Given the description of an element on the screen output the (x, y) to click on. 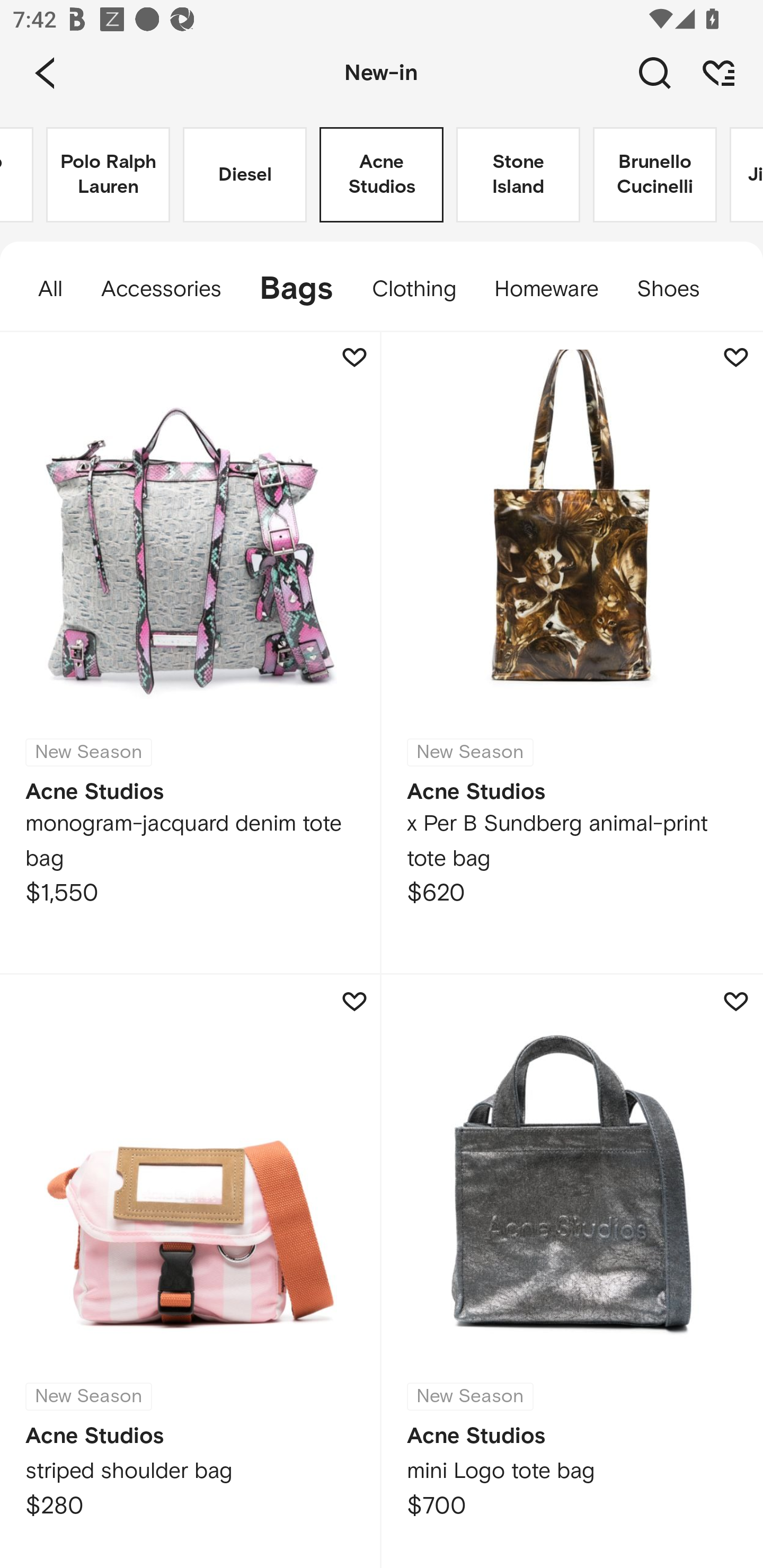
Polo Ralph Lauren (107, 174)
Diesel (244, 174)
Acne Studios (381, 174)
Stone Island (517, 174)
Brunello Cucinelli (654, 174)
All (40, 288)
Accessories (160, 288)
Bags (296, 288)
Clothing (413, 288)
Homeware (546, 288)
Shoes (677, 288)
New Season Acne Studios striped shoulder bag $280 (190, 1271)
New Season Acne Studios mini Logo tote bag $700 (572, 1271)
